Given the description of an element on the screen output the (x, y) to click on. 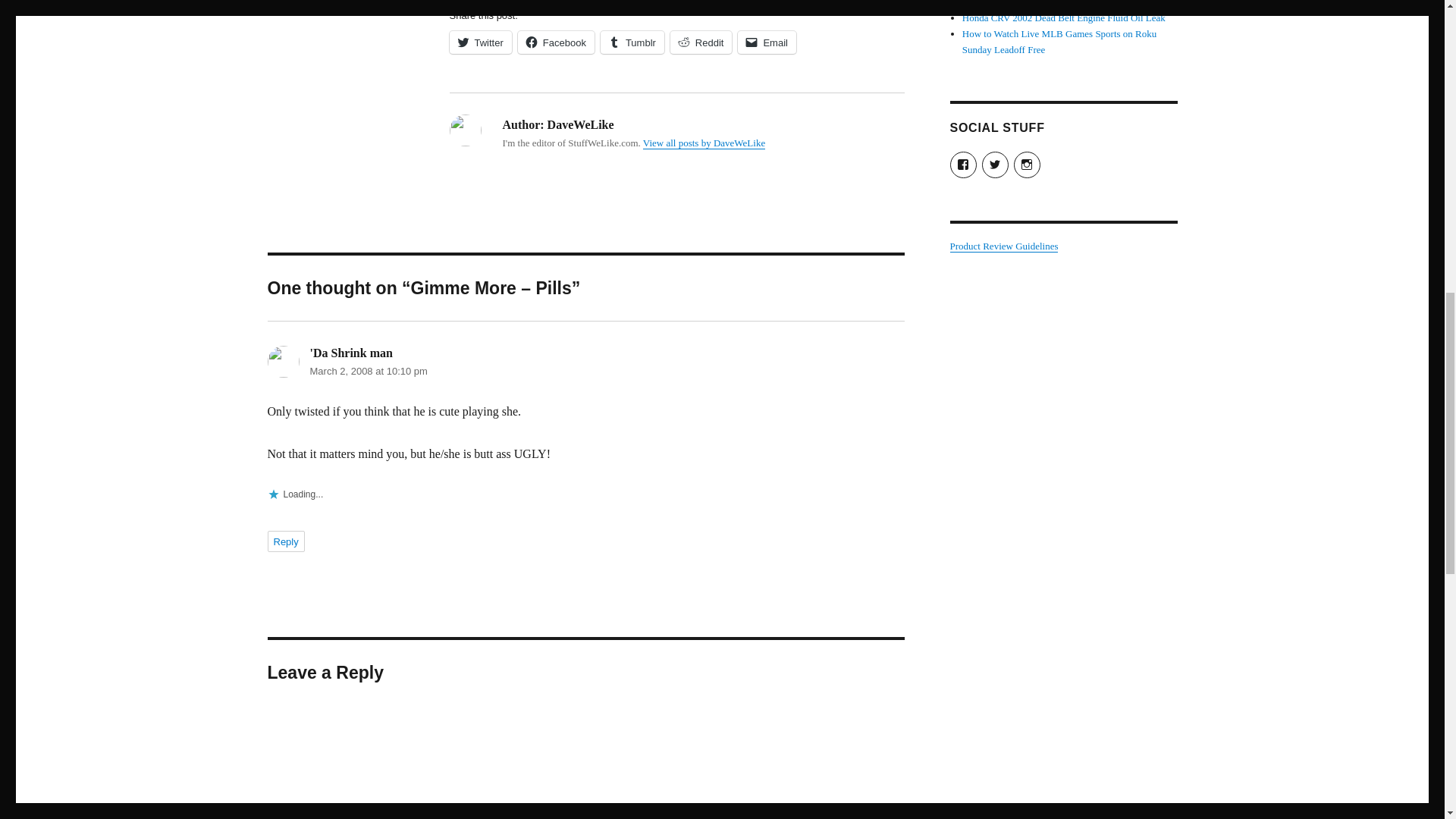
Click to share on Reddit (700, 42)
March 2, 2008 at 10:10 pm (367, 370)
Reply (285, 541)
Click to share on Twitter (479, 42)
Click to share on Facebook (556, 42)
Tumblr (631, 42)
Product Review Guidelines (1003, 245)
Facebook (556, 42)
